Given the description of an element on the screen output the (x, y) to click on. 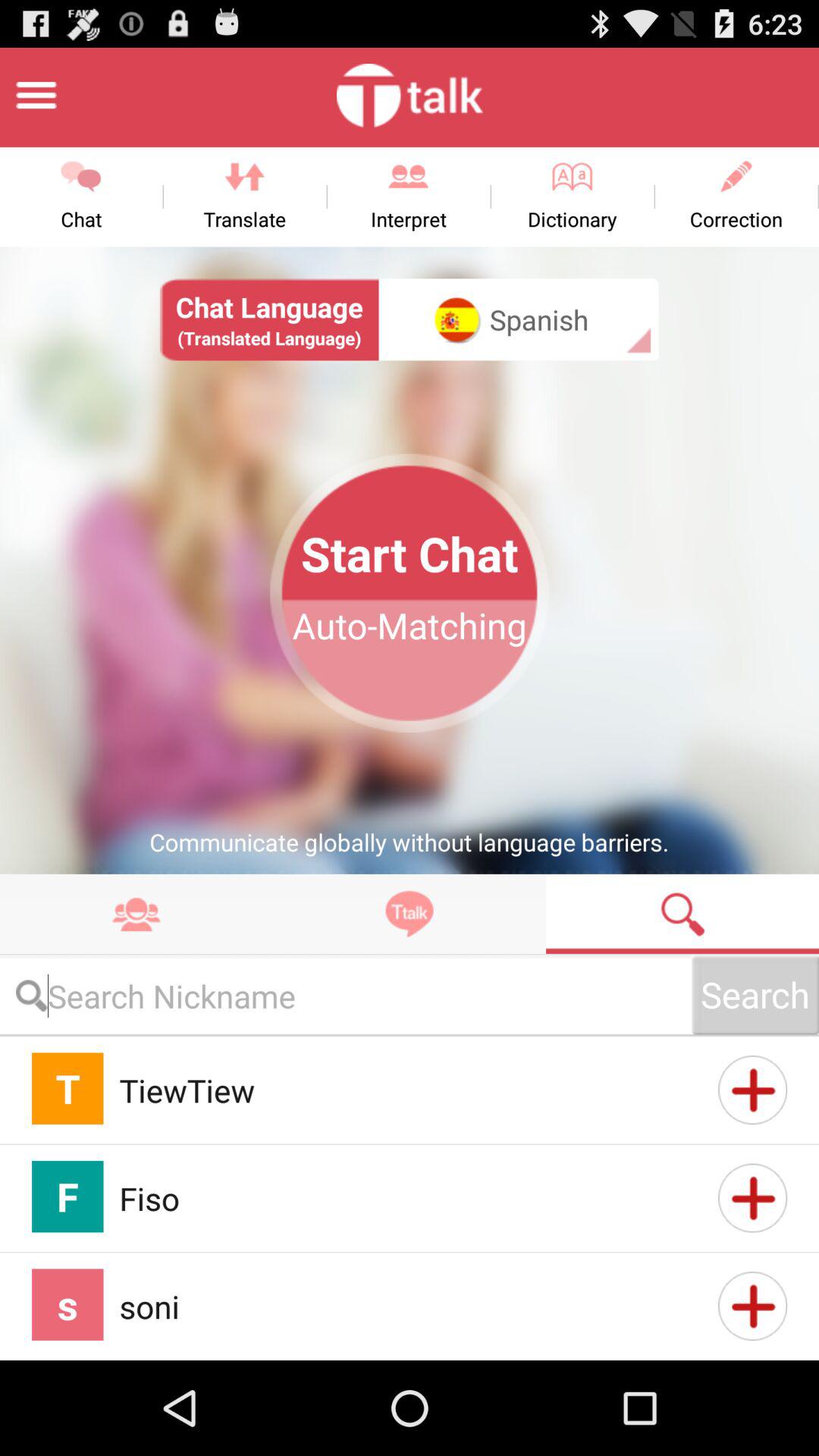
add to contacts (752, 1305)
